Given the description of an element on the screen output the (x, y) to click on. 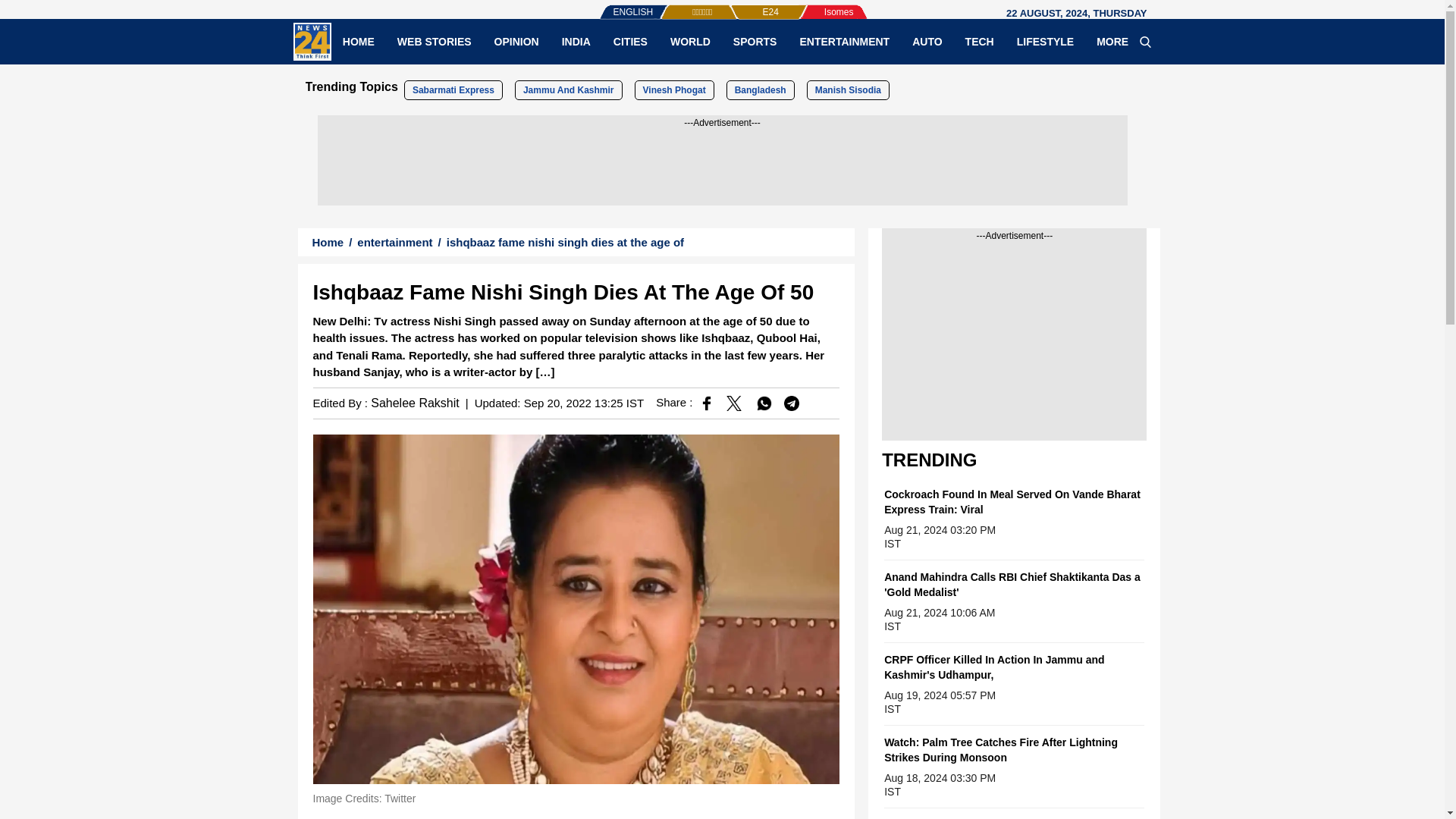
LIFESTYLE (1045, 41)
INDIA (576, 41)
ENGLISH (601, 4)
ENTERTAINMENT (844, 41)
AUTO (927, 41)
CITIES (630, 41)
HOME (358, 41)
OPINION (516, 41)
Isomes (814, 4)
